Given the description of an element on the screen output the (x, y) to click on. 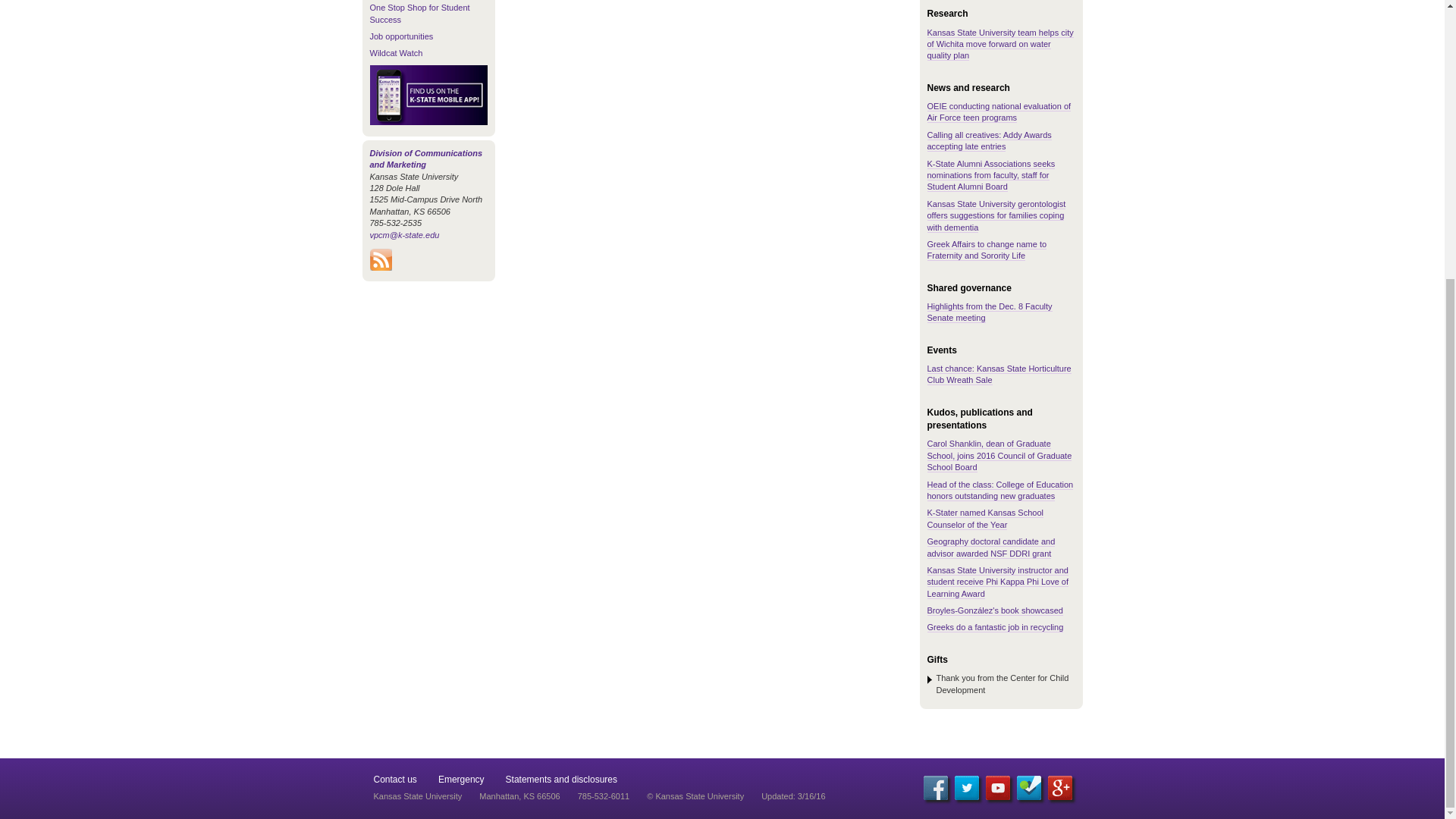
One Stop Shop for Student Success (419, 13)
Subscribe to K-State Today RSS feeds (380, 266)
Calling all creatives: Addy Awards accepting late entries (988, 140)
Job opportunities (401, 35)
Wildcat Watch (396, 52)
